Given the description of an element on the screen output the (x, y) to click on. 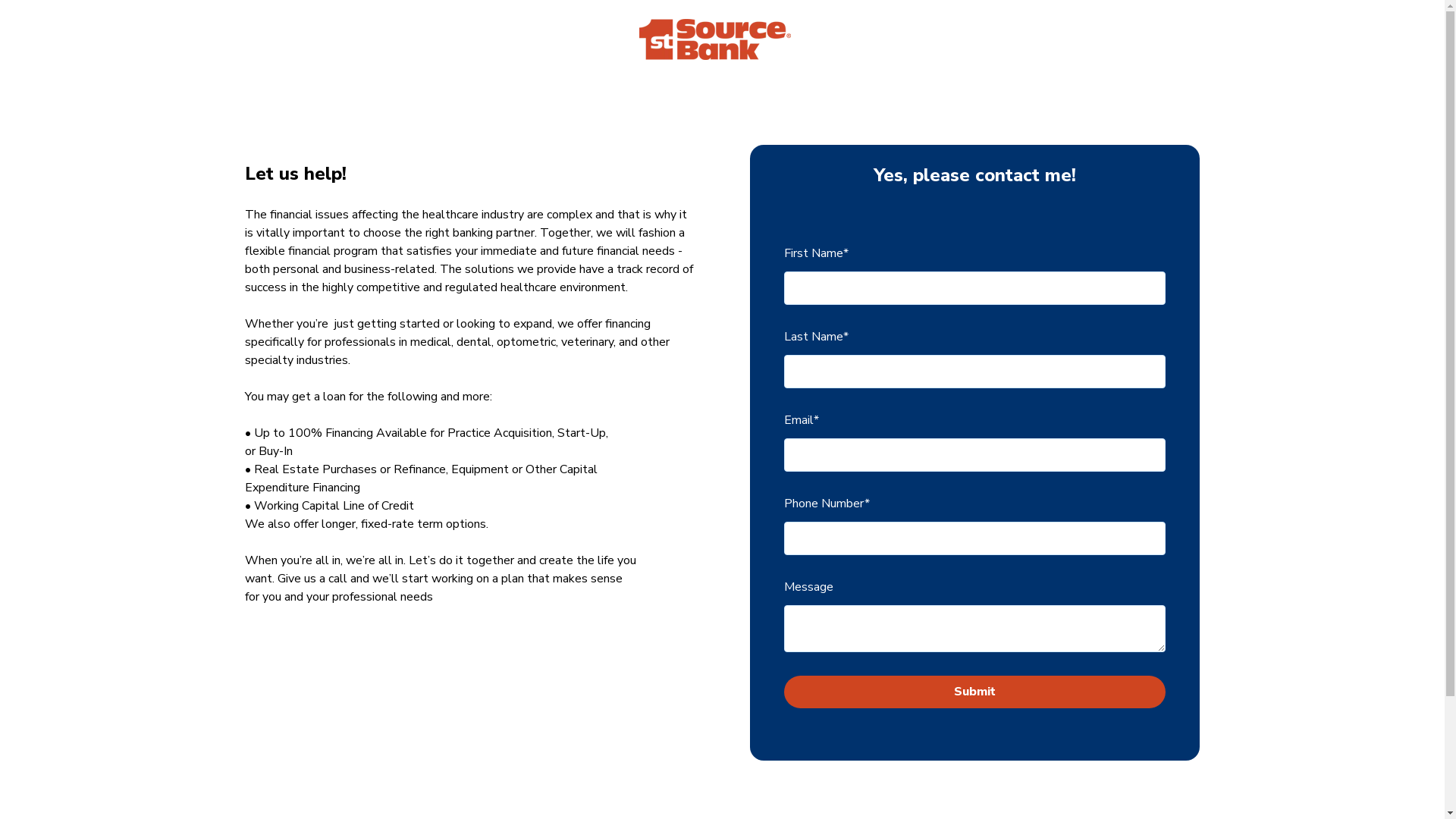
Submit Element type: text (974, 691)
1st Source Bank Element type: hover (714, 38)
